Given the description of an element on the screen output the (x, y) to click on. 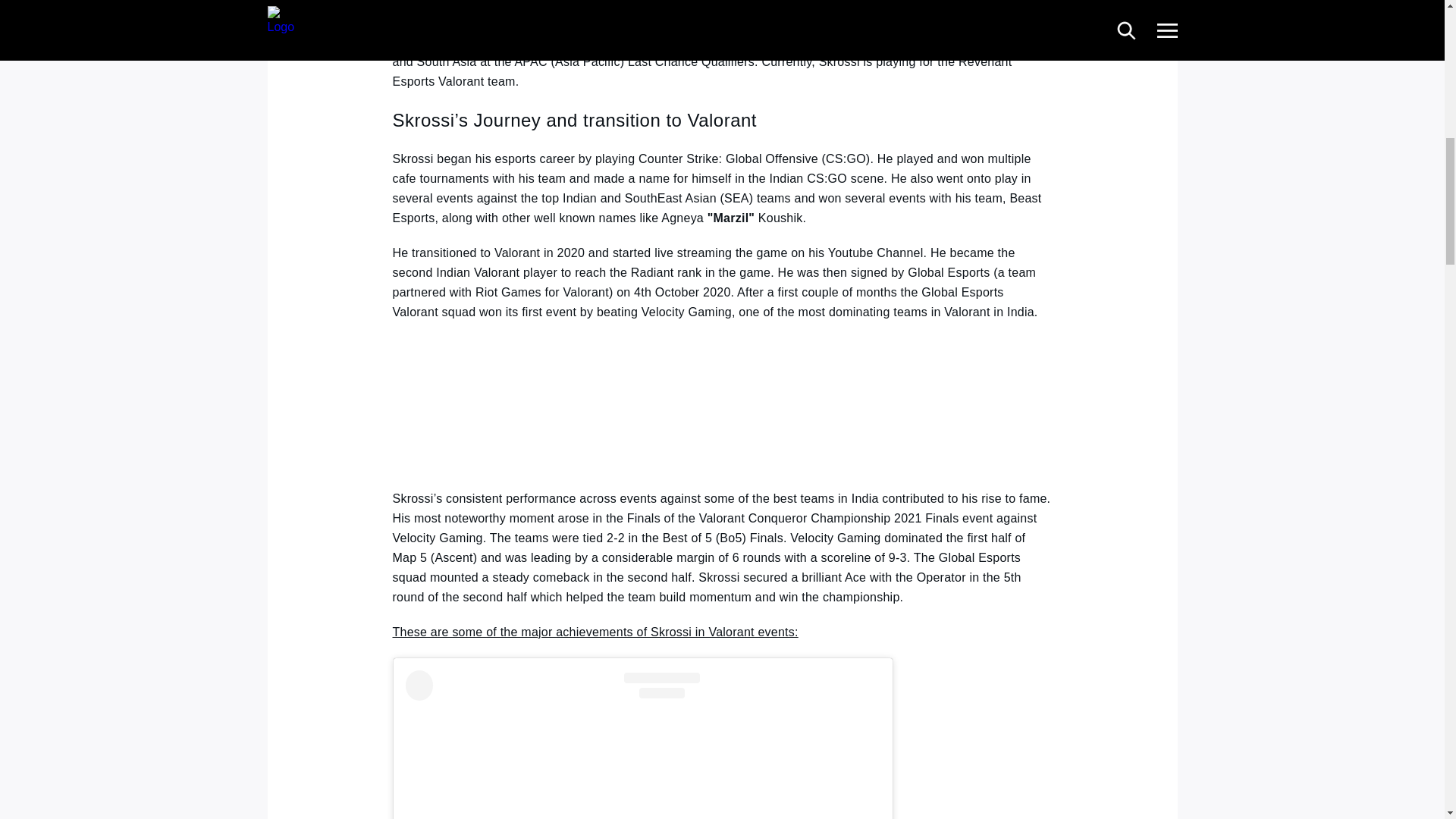
View this post on Instagram (641, 744)
